Given the description of an element on the screen output the (x, y) to click on. 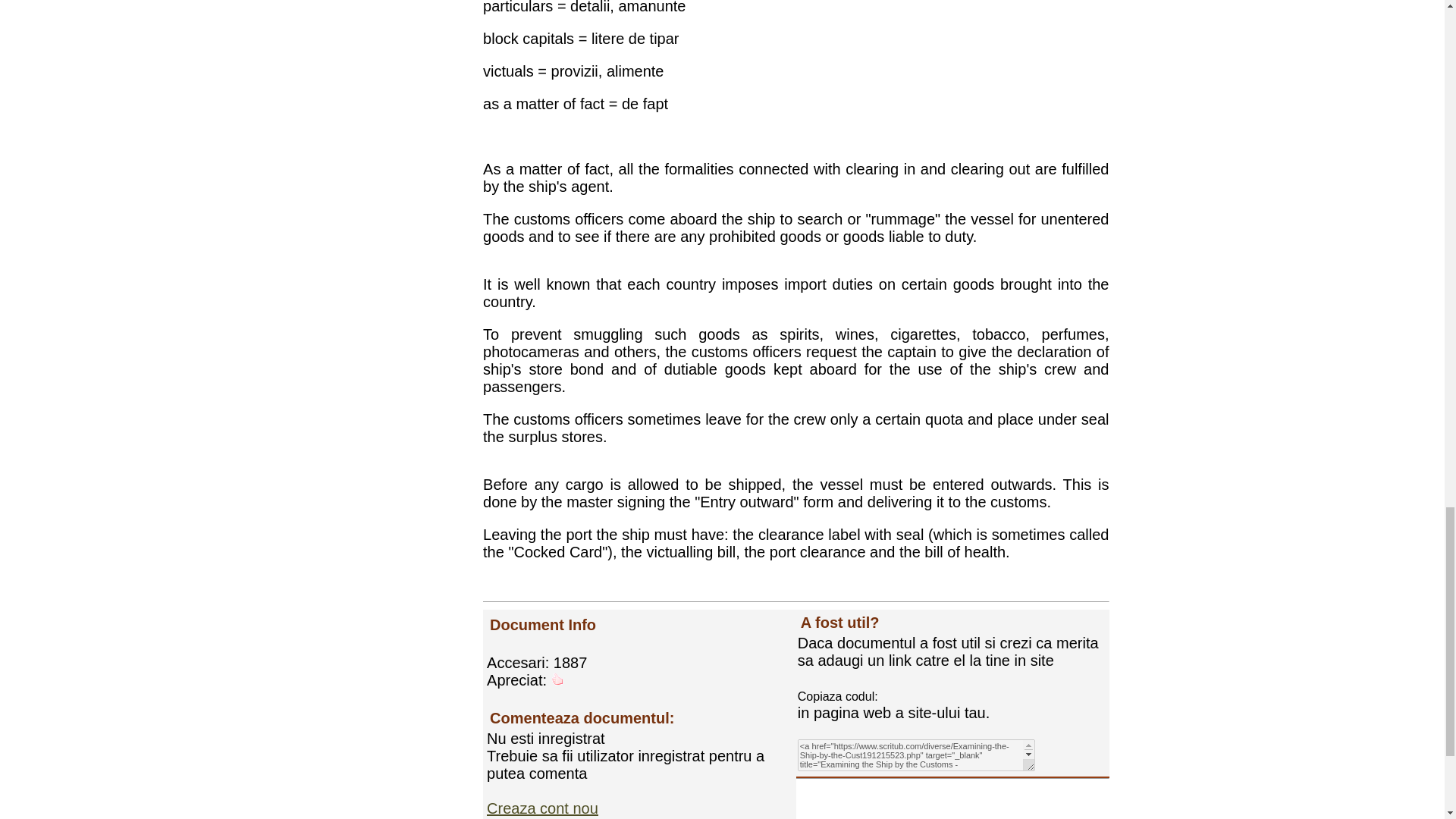
Creaza cont nou (542, 808)
